Given the description of an element on the screen output the (x, y) to click on. 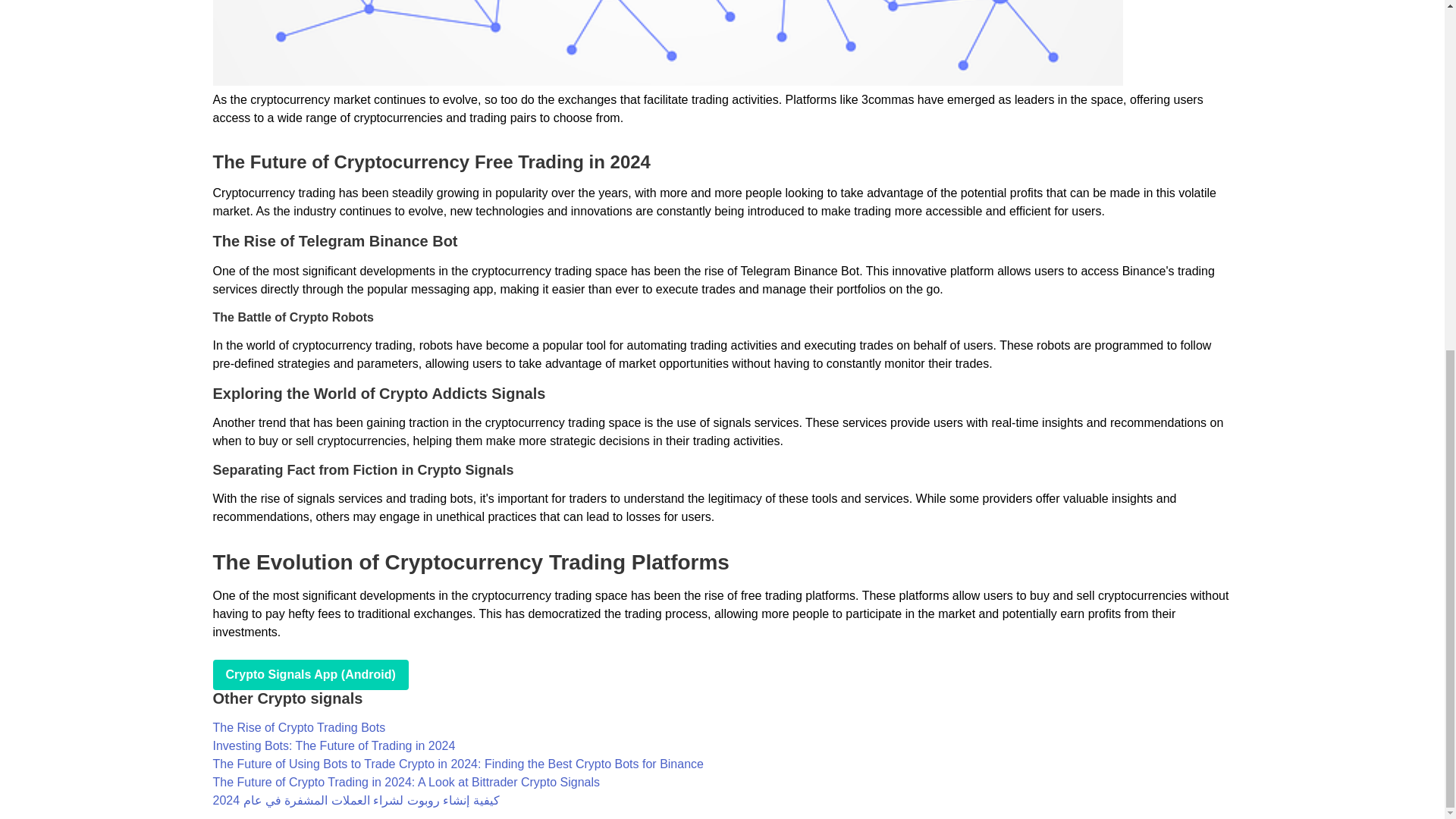
The Rise of Crypto Trading Bots (298, 727)
Investing Bots: The Future of Trading in 2024 (333, 745)
The Rise of Crypto Trading Bots (298, 727)
Investing Bots: The Future of Trading in 2024 (333, 745)
play (309, 675)
